Given the description of an element on the screen output the (x, y) to click on. 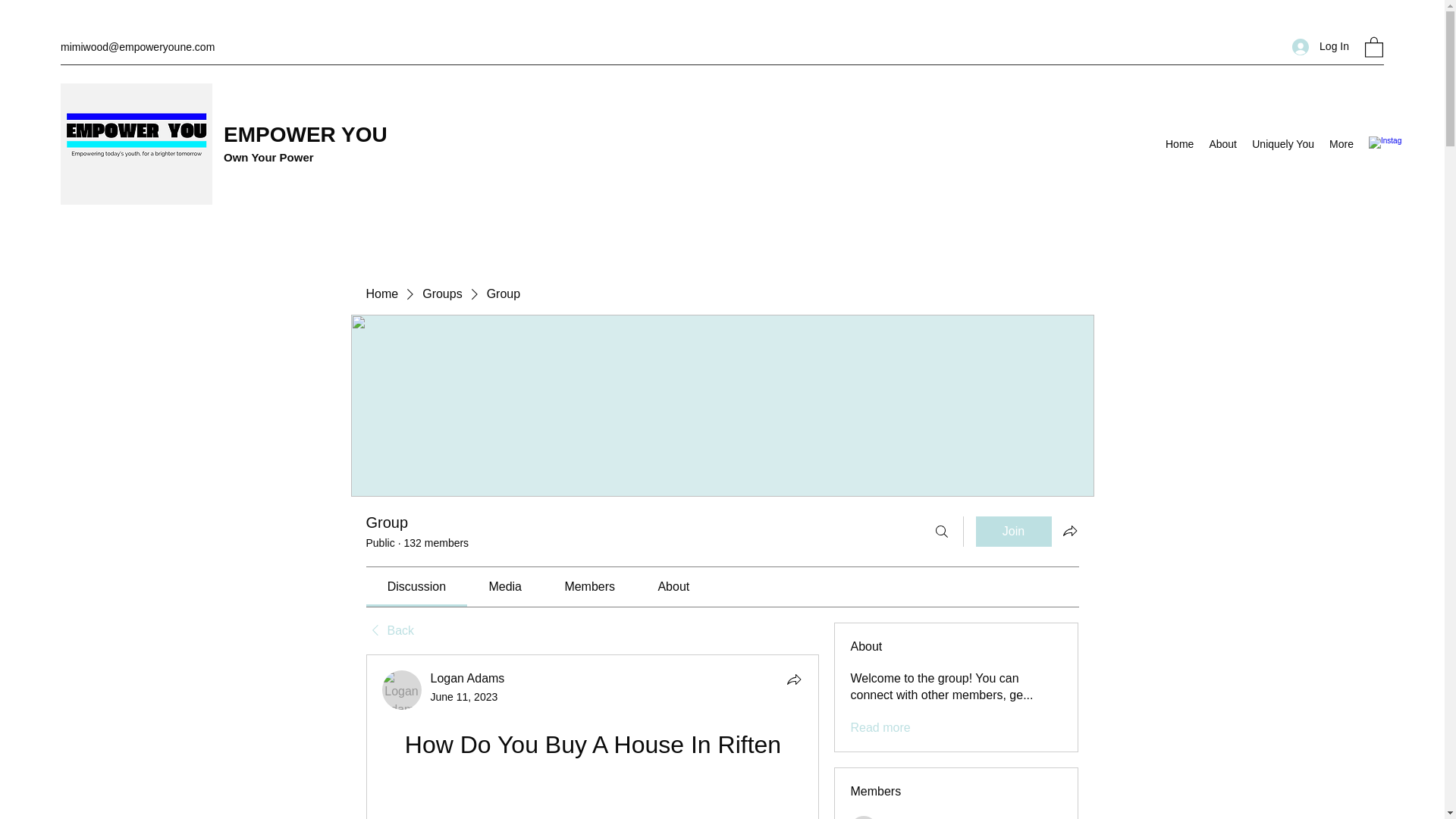
Back (389, 630)
EMPOWER YOU  (308, 134)
Groups (441, 293)
Logan Adams (401, 690)
About (1222, 143)
Home (1179, 143)
Uniquely You (1283, 143)
Join (1013, 531)
Home (381, 293)
Log In (1320, 46)
June 11, 2023 (463, 696)
Read more (880, 727)
teachersdiscoverin (863, 817)
